Given the description of an element on the screen output the (x, y) to click on. 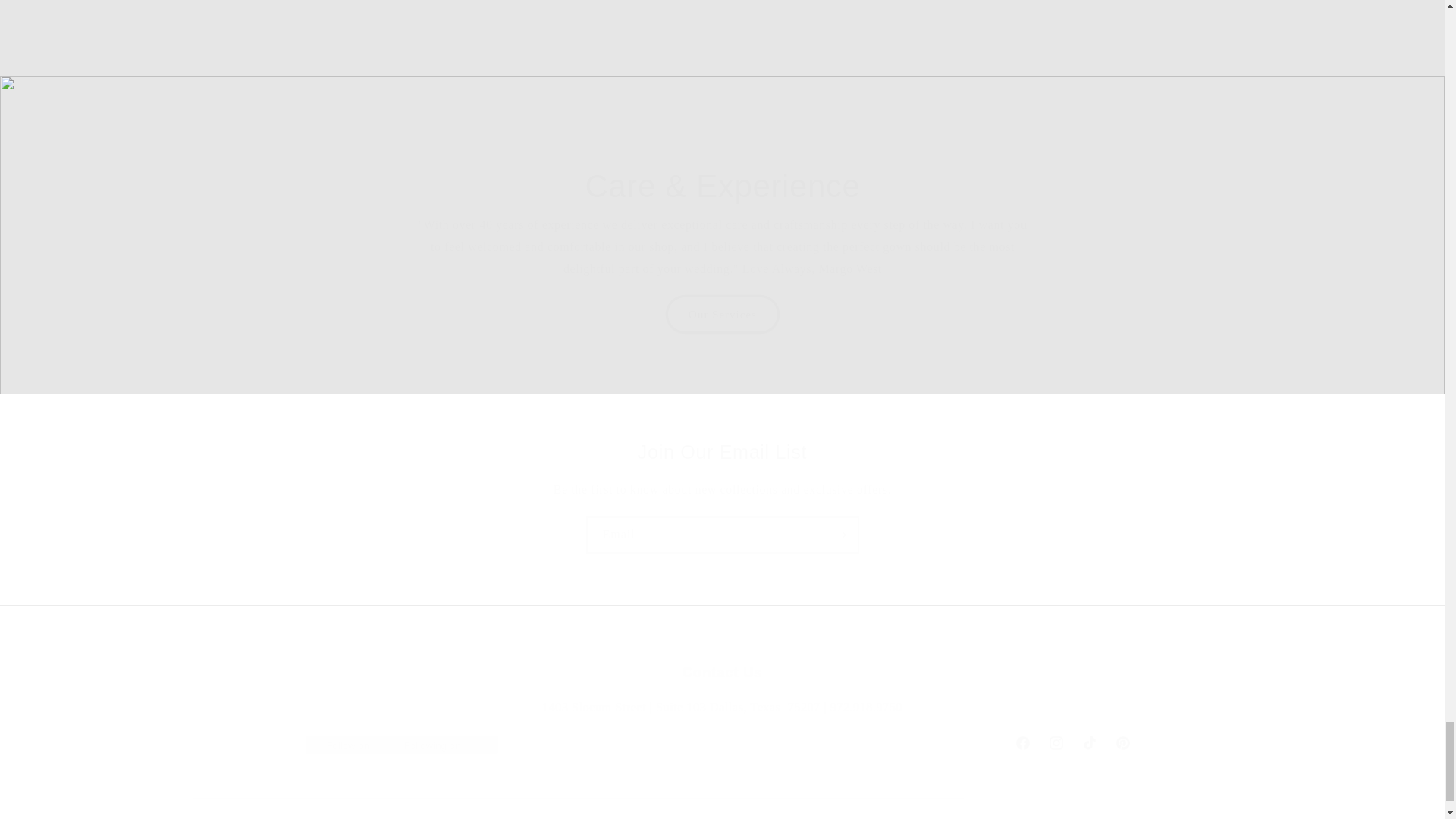
Email (722, 534)
Join Our Email List (721, 743)
